Given the description of an element on the screen output the (x, y) to click on. 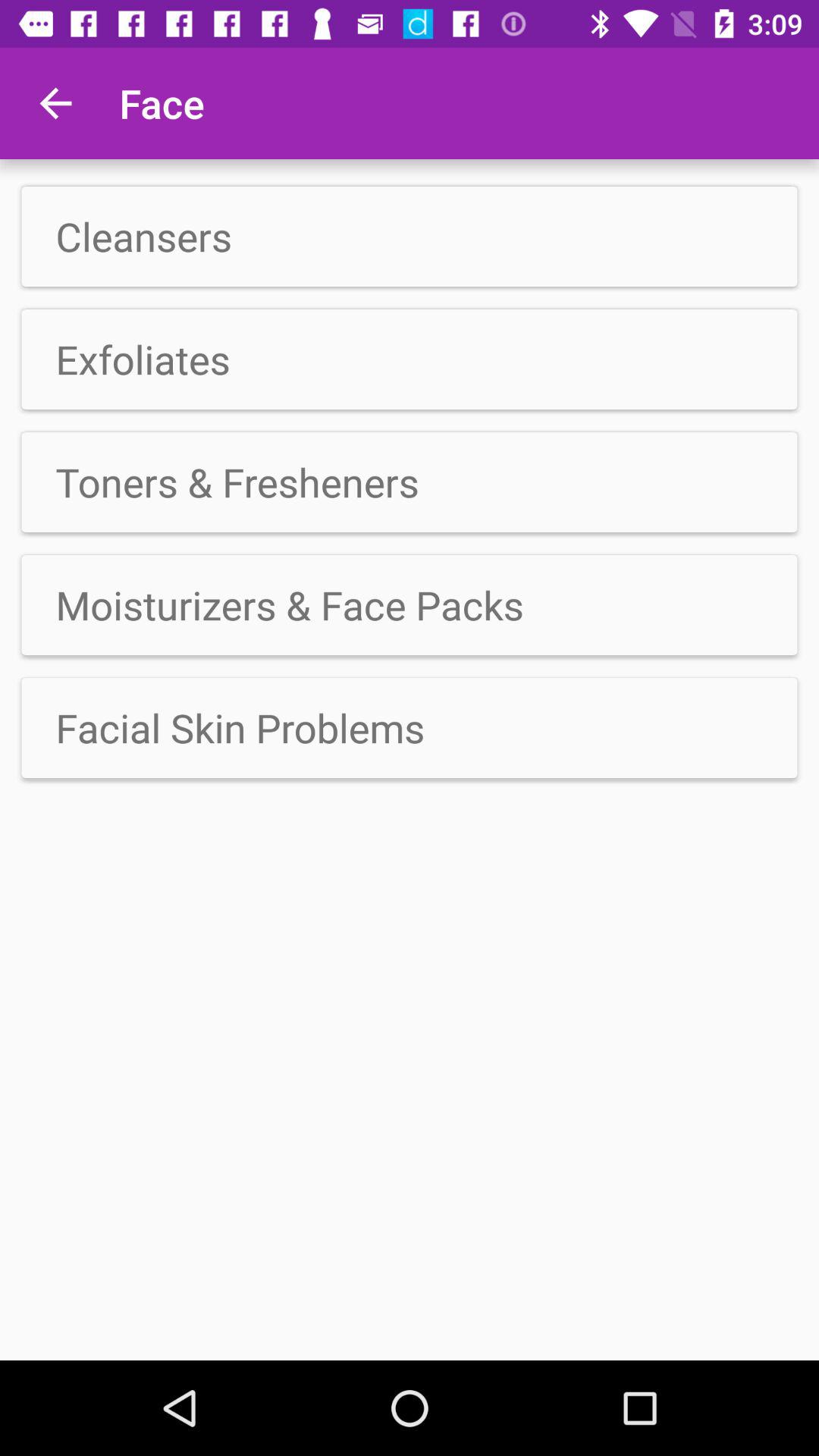
press toners & fresheners item (409, 482)
